Given the description of an element on the screen output the (x, y) to click on. 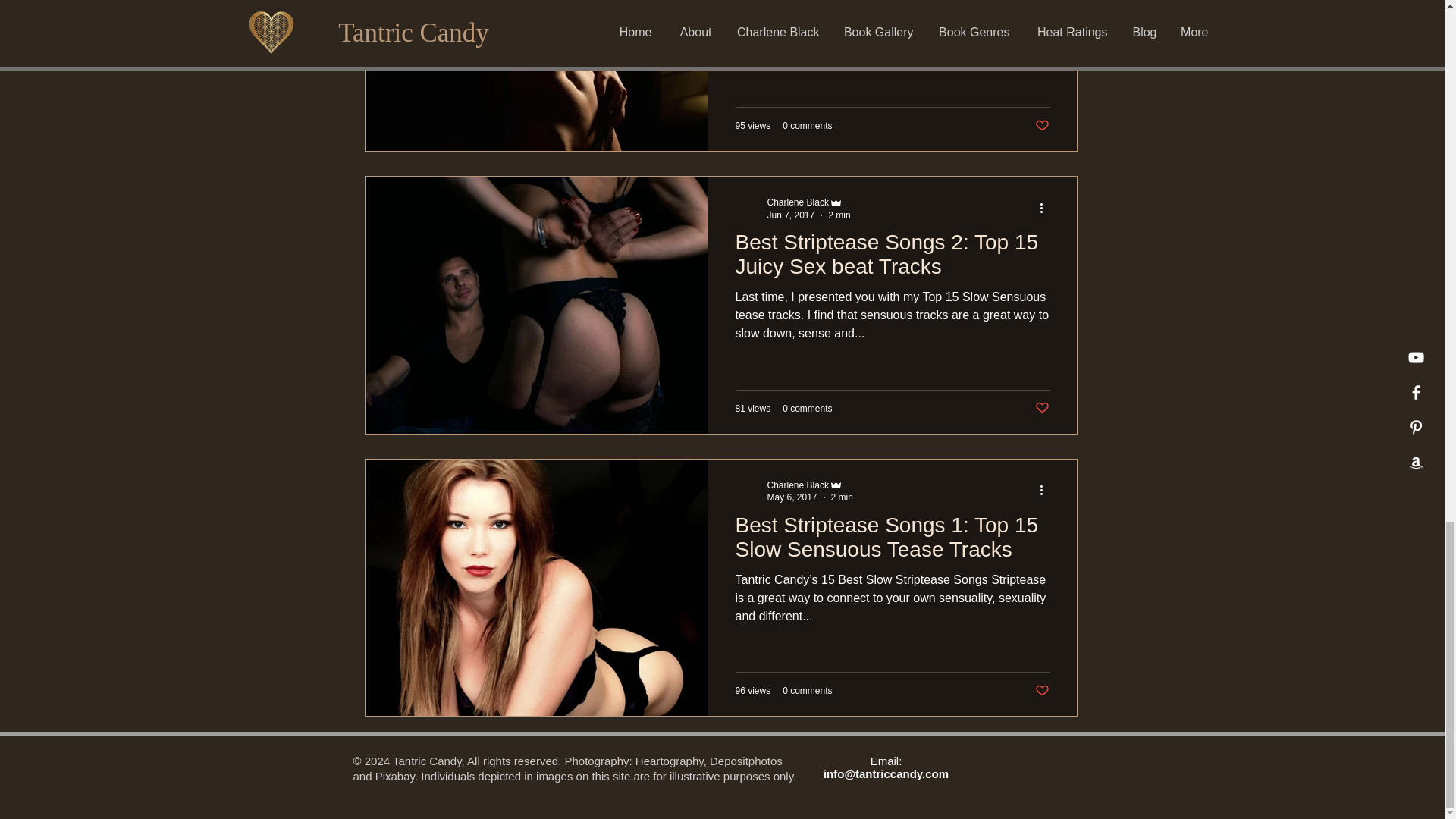
Charlene Black (797, 484)
2 min (839, 214)
May 6, 2017 (791, 497)
Jun 7, 2017 (791, 214)
Charlene Black (797, 202)
2 min (842, 497)
